Given the description of an element on the screen output the (x, y) to click on. 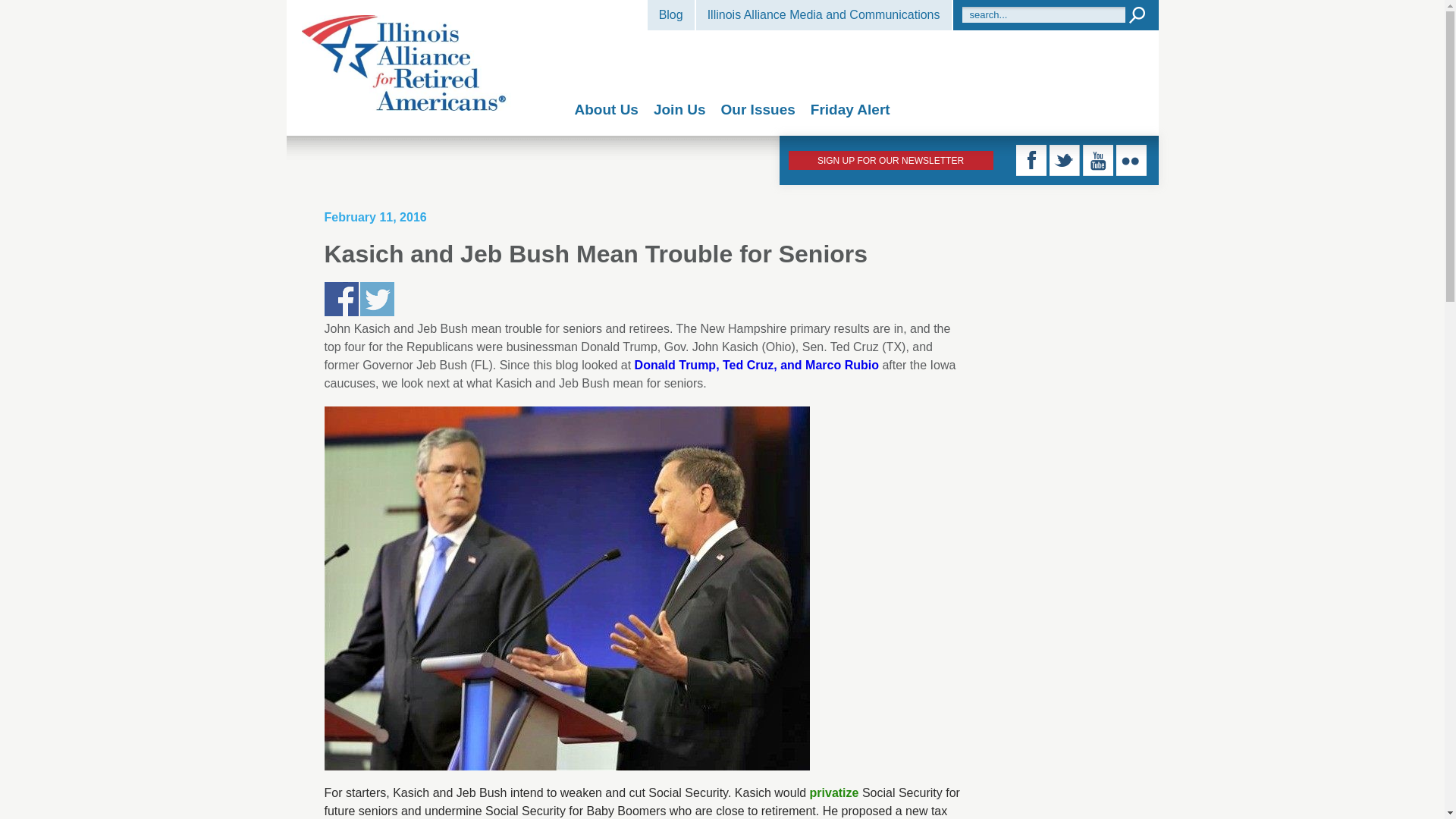
SIGN UP FOR OUR NEWSLETTER (890, 159)
Join Us (679, 109)
About Us (607, 109)
Donald Trump, Ted Cruz, and Marco Rubio (756, 364)
privatize (834, 792)
SIGN UP FOR OUR NEWSLETTER (890, 159)
Illinois Alliance Media and Communications (823, 15)
Friday Alert (849, 109)
Blog (670, 15)
search... (1042, 14)
Our Issues (757, 109)
